Given the description of an element on the screen output the (x, y) to click on. 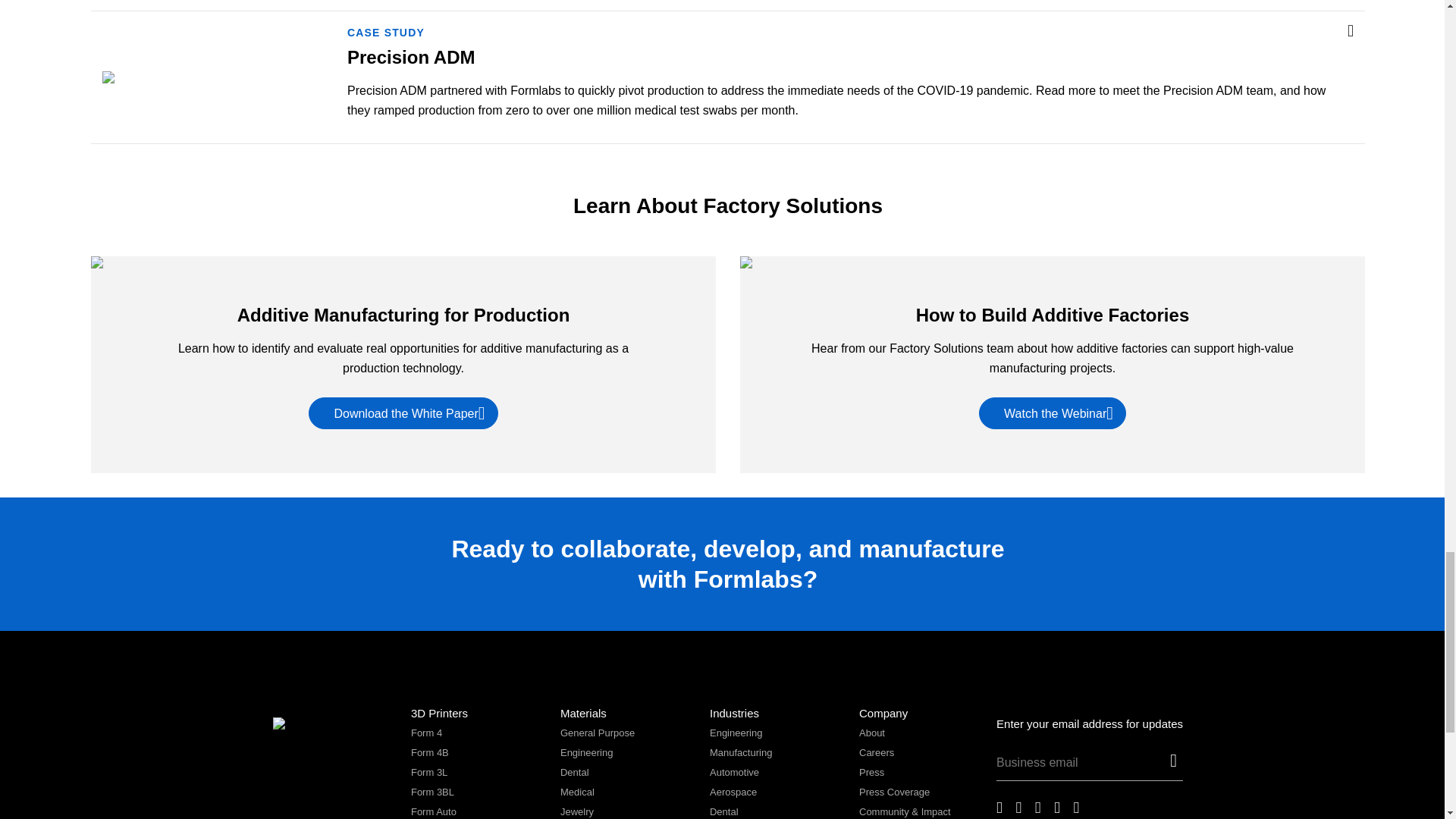
Email (1079, 766)
